Given the description of an element on the screen output the (x, y) to click on. 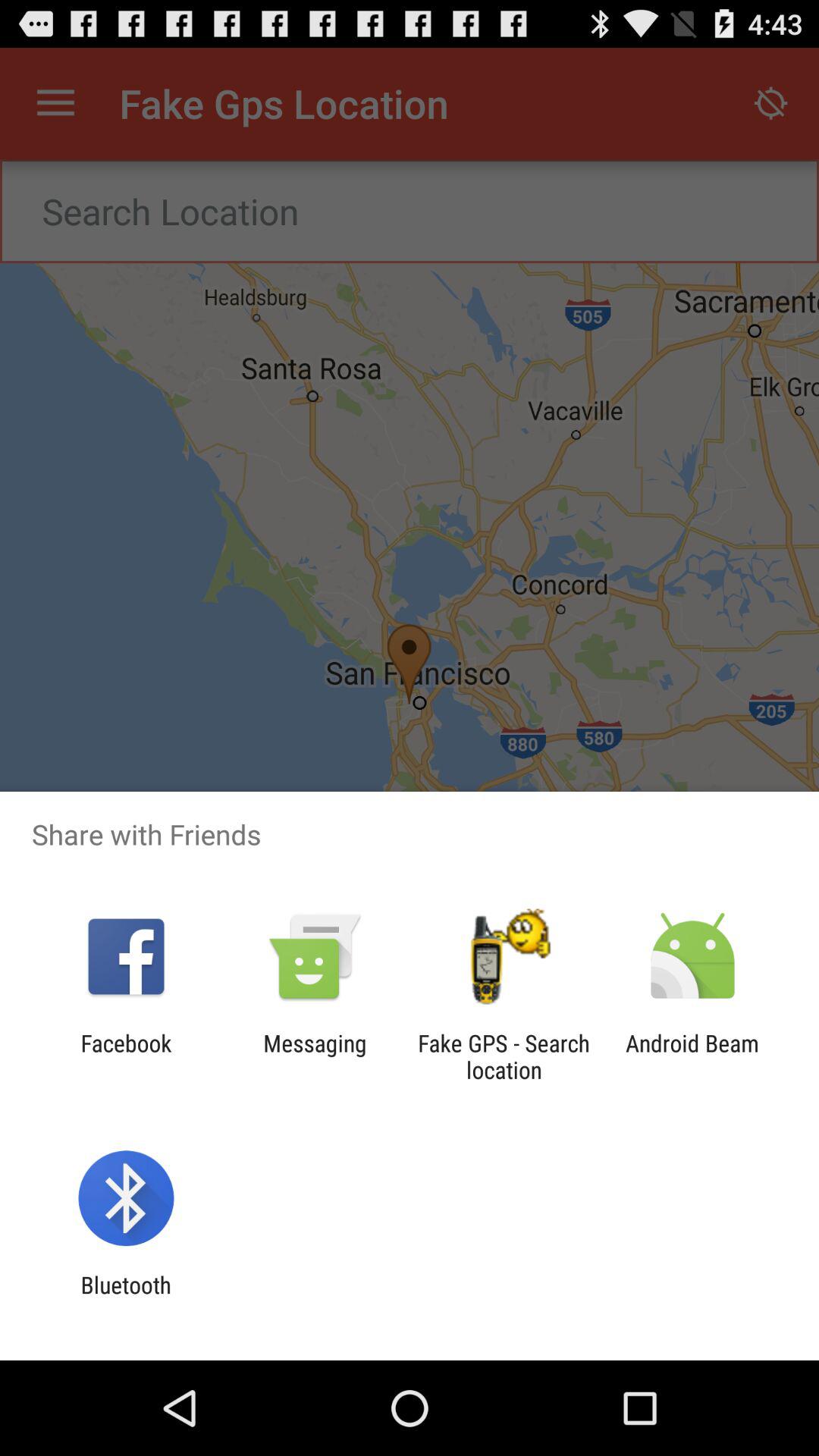
press the item to the right of messaging icon (503, 1056)
